Given the description of an element on the screen output the (x, y) to click on. 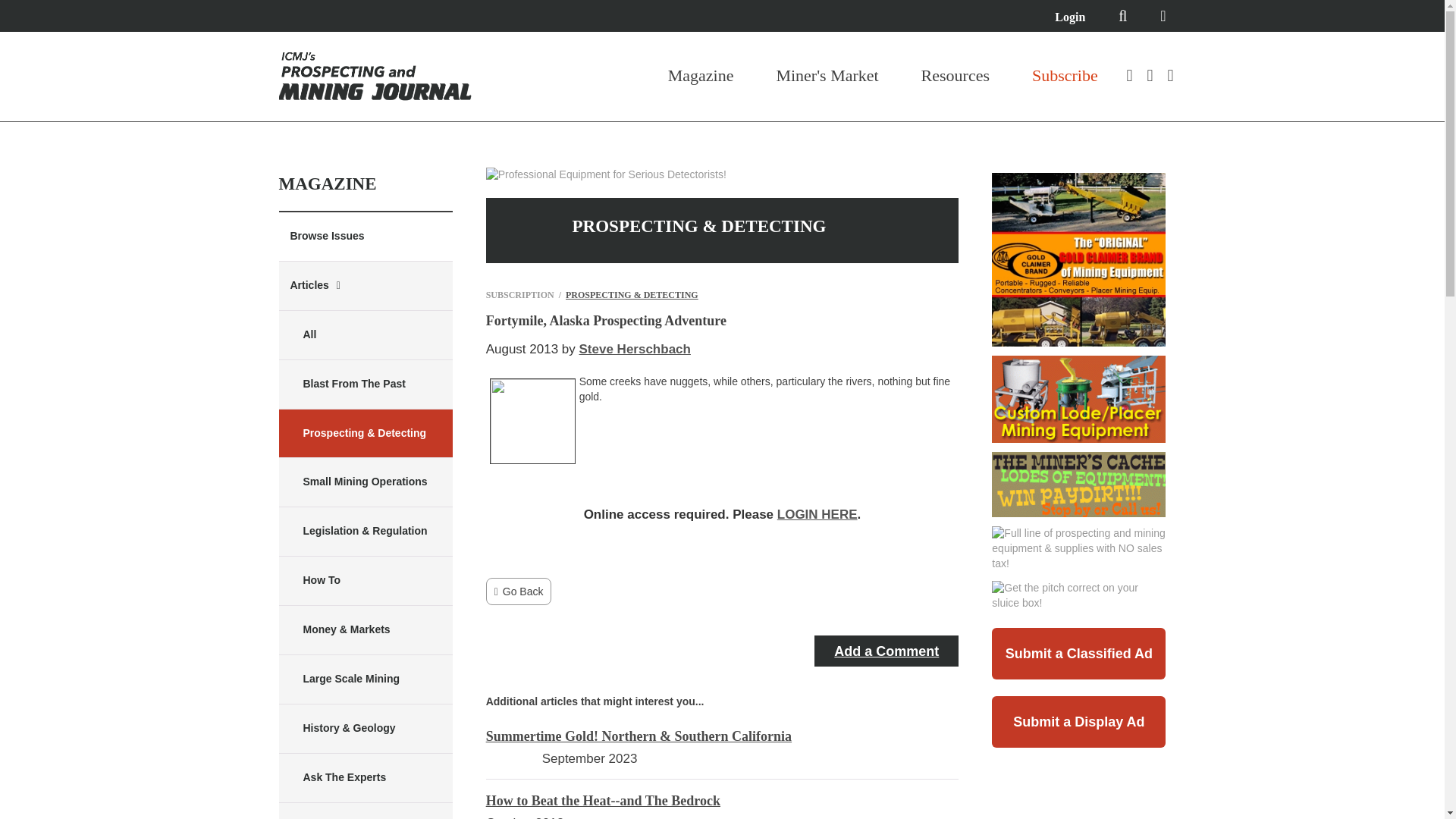
Login (1069, 16)
Miner's Market (826, 75)
Home of the Original Gold Claimer (1078, 259)
Magazine (700, 75)
Resources (955, 75)
Professional Equipment for Serious Detectorists! (606, 174)
Get the pitch correct on your sluice box! (1078, 595)
